Given the description of an element on the screen output the (x, y) to click on. 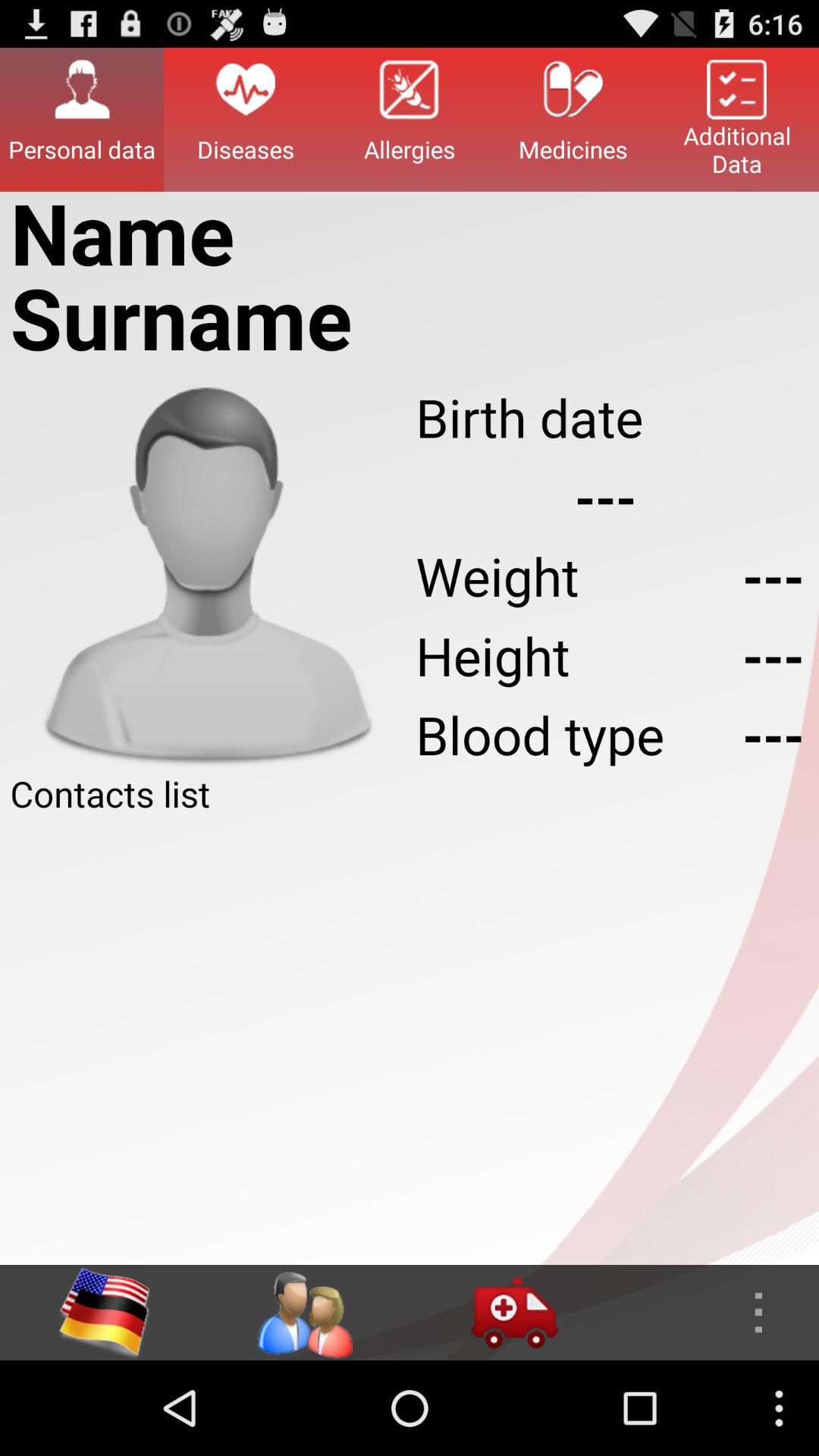
launch item next to the additional data icon (573, 119)
